Given the description of an element on the screen output the (x, y) to click on. 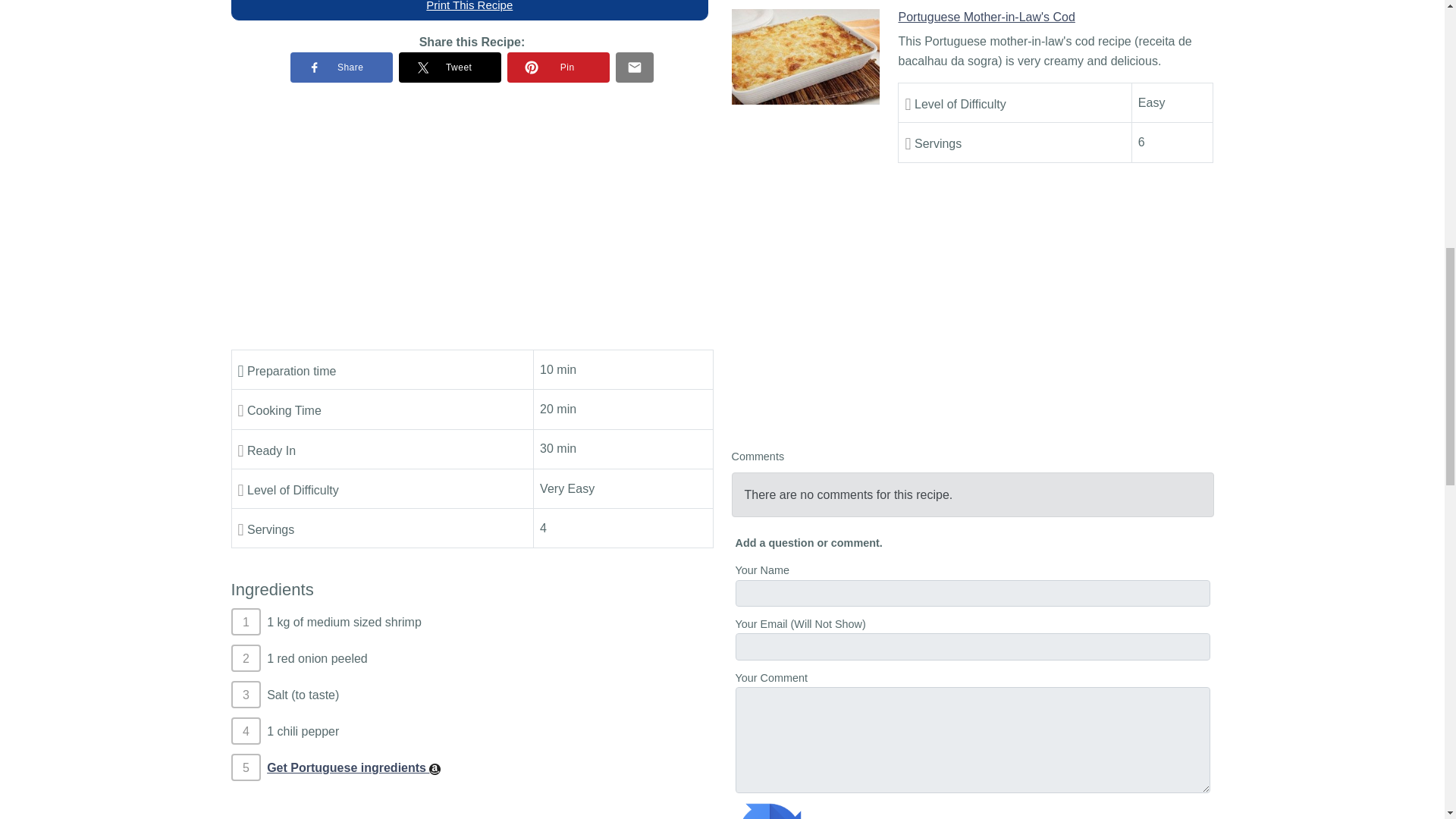
Advertisement (471, 216)
Portuguese Mother-in-Law's Cod (804, 56)
Advertisement (971, 304)
Get Portuguese ingredients (353, 767)
Advertisement (471, 813)
Print This Recipe (468, 10)
Portuguese Mother-in-Law's Cod (986, 16)
